Given the description of an element on the screen output the (x, y) to click on. 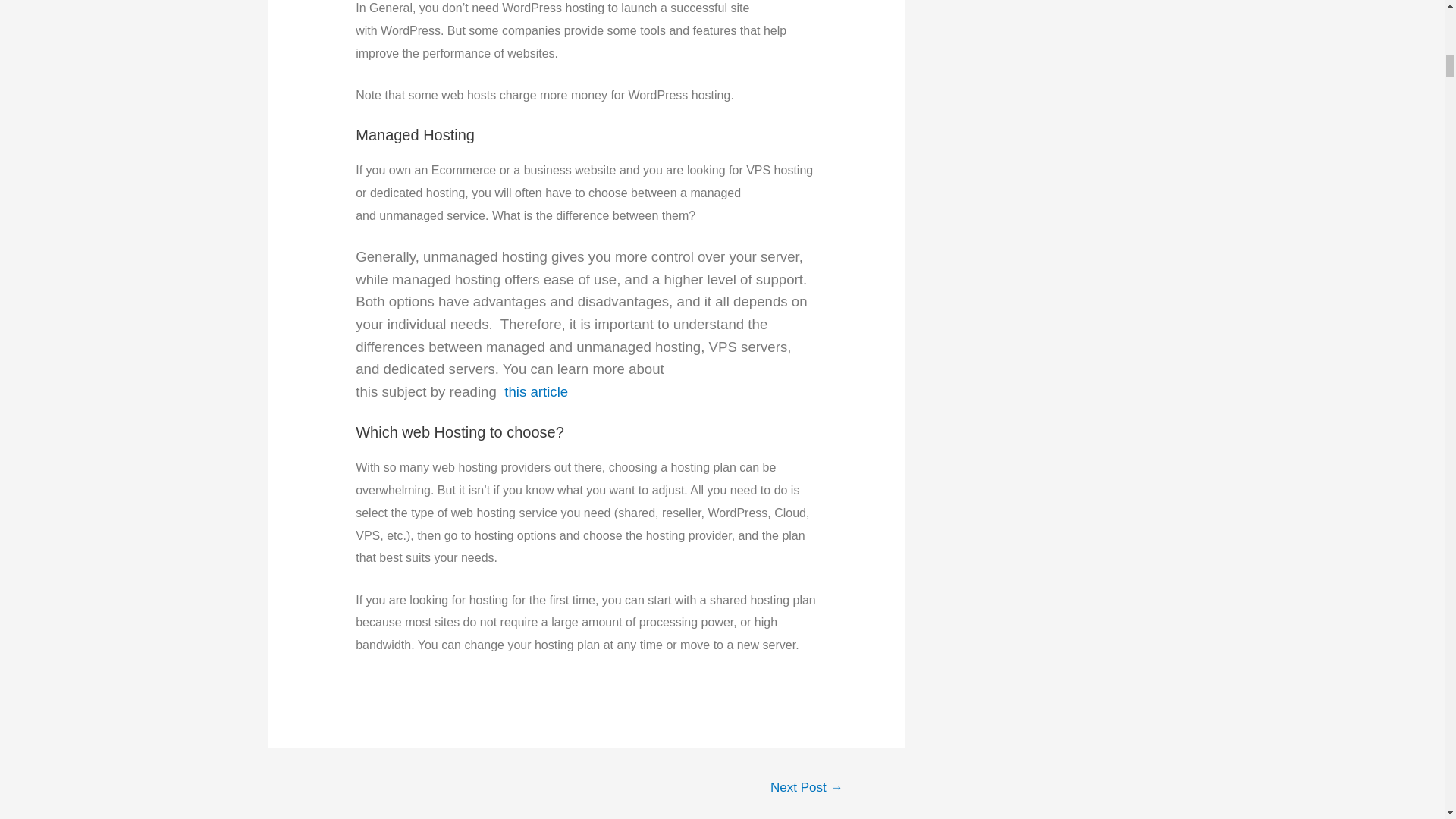
 this article (533, 391)
